Given the description of an element on the screen output the (x, y) to click on. 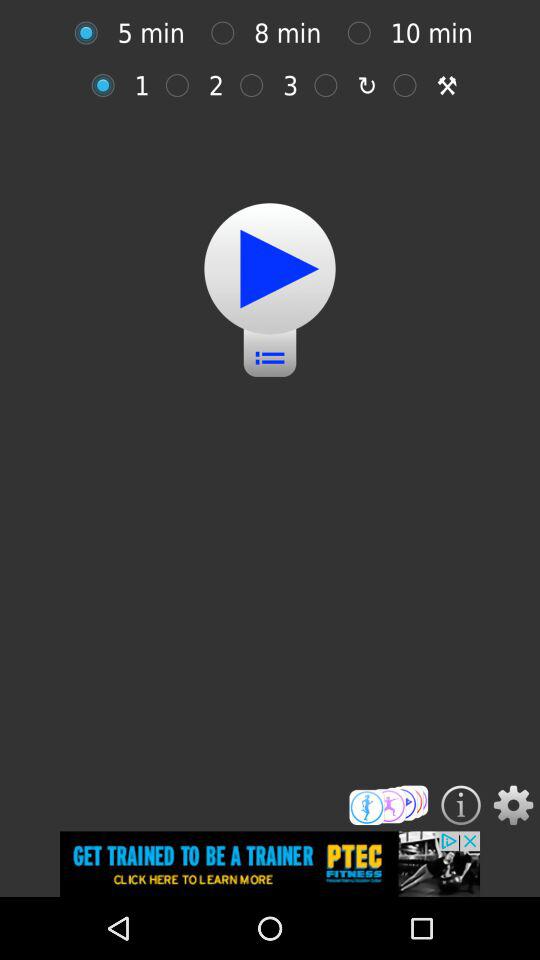
audio repeat (108, 85)
